Given the description of an element on the screen output the (x, y) to click on. 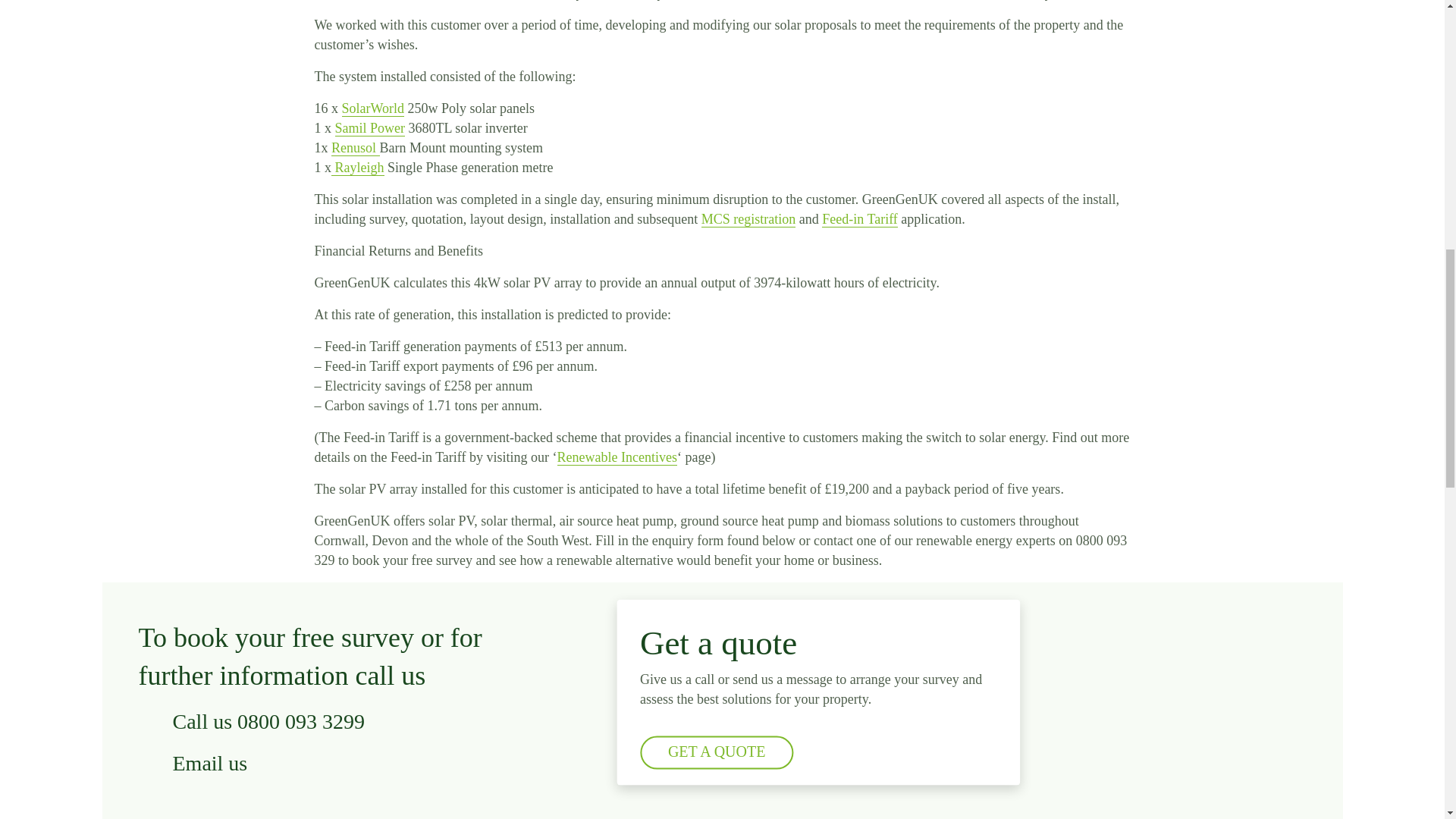
Renusol (355, 148)
Rayleigh (357, 167)
Email us (320, 762)
GET A QUOTE (716, 752)
Renewable Incentives (617, 457)
MCS registration (748, 219)
Samil Power (370, 128)
Call us 0800 093 3299 (320, 721)
SolarWorld (372, 108)
Feed-in Tariff (860, 219)
